Given the description of an element on the screen output the (x, y) to click on. 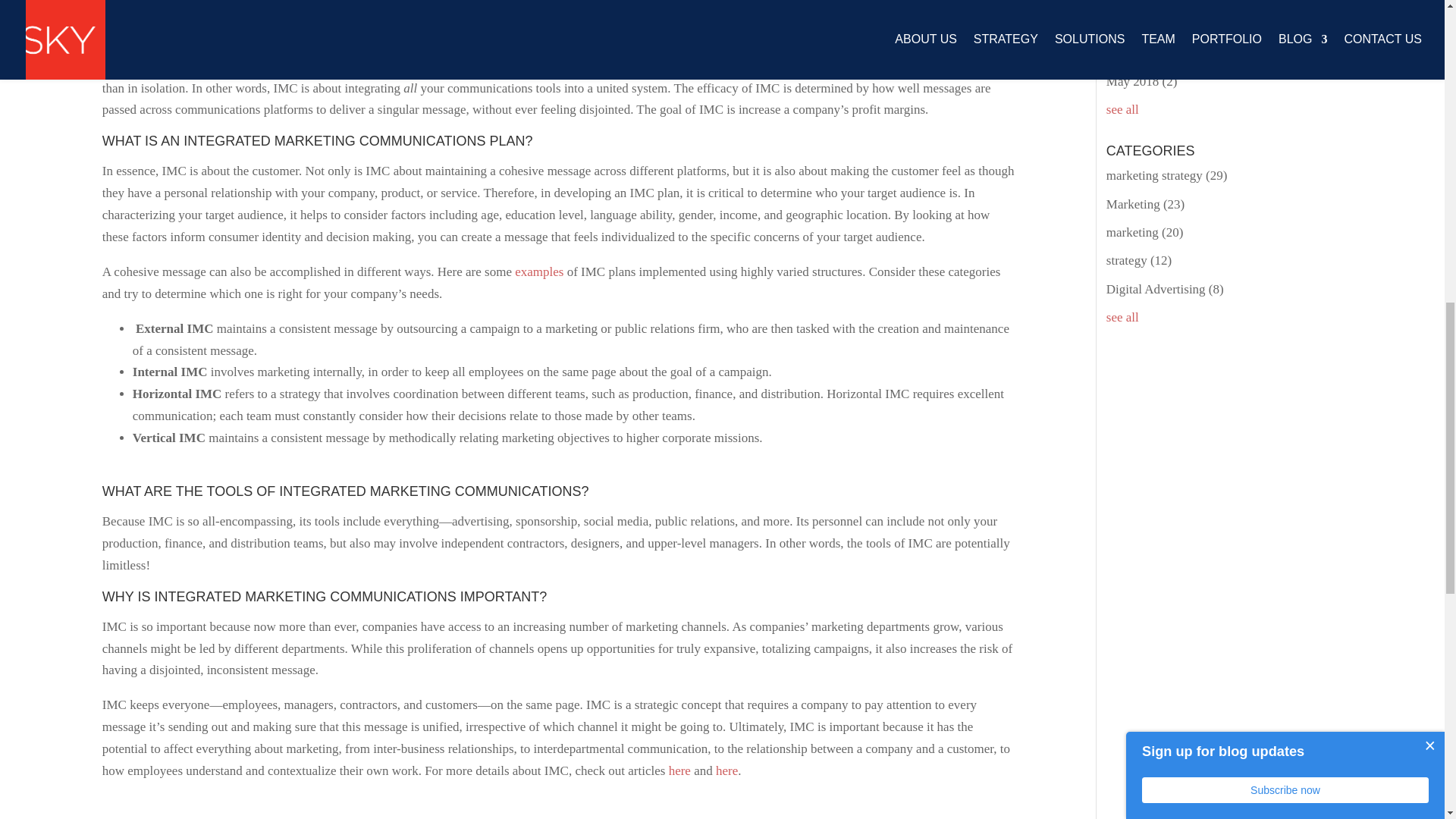
here (679, 770)
examples (539, 271)
here (727, 770)
more important than ever (770, 43)
